Given the description of an element on the screen output the (x, y) to click on. 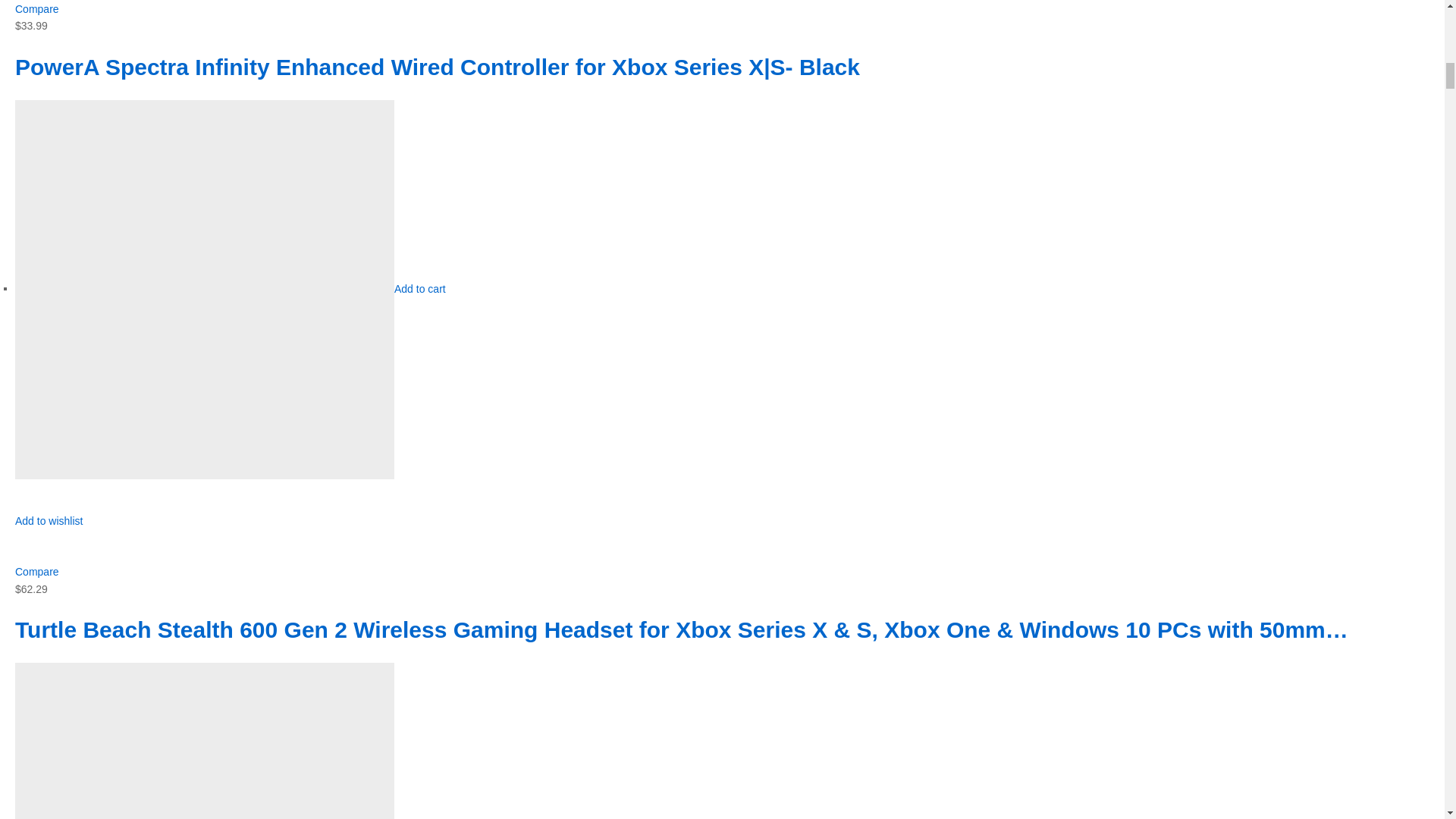
Compare (36, 9)
Add to wishlist (48, 529)
Compare (36, 571)
Add to wishlist (48, 529)
Compare (36, 9)
Add to cart (419, 287)
Compare (36, 571)
